Given the description of an element on the screen output the (x, y) to click on. 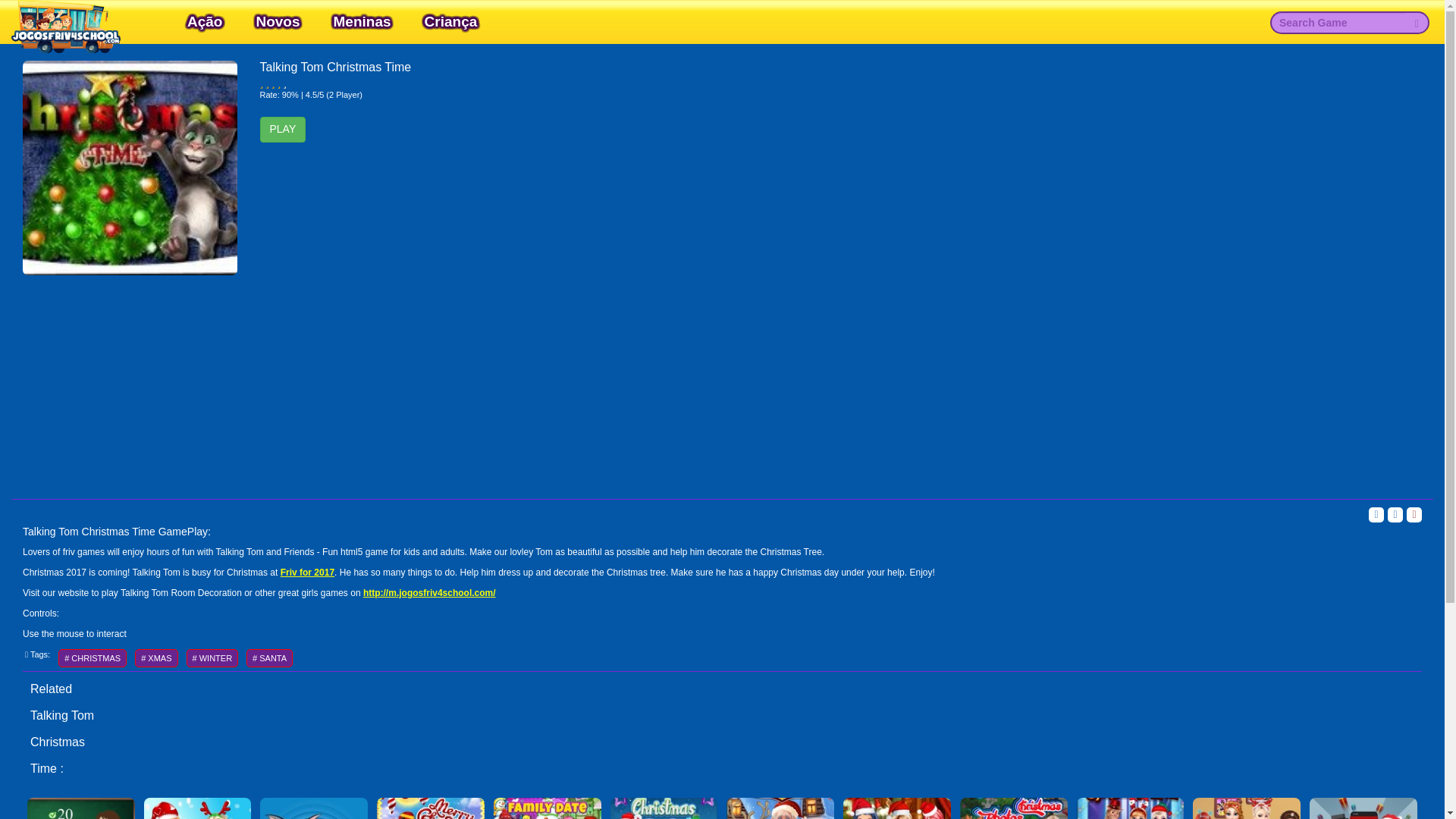
Christmas IO (1363, 806)
PLAY (282, 129)
Meninas (362, 22)
Friv for 2017 (307, 572)
Princesses Christmas Card Decoration (430, 806)
Princesses Christmas Family Date (547, 806)
Advertisement (721, 380)
Disney Princesses Christmas Dinner (1246, 806)
Bffs Christmas Party (896, 806)
Tom And Angela School Quiz (81, 806)
Save Injured Santa And Christmas Elk (780, 806)
Elsa Make Christmas Gift  (197, 806)
Princesses Christmas Party (663, 806)
Princesses Christmas Photos Album (1013, 806)
Tom and Jerry: Mouse Maze (314, 806)
